Given the description of an element on the screen output the (x, y) to click on. 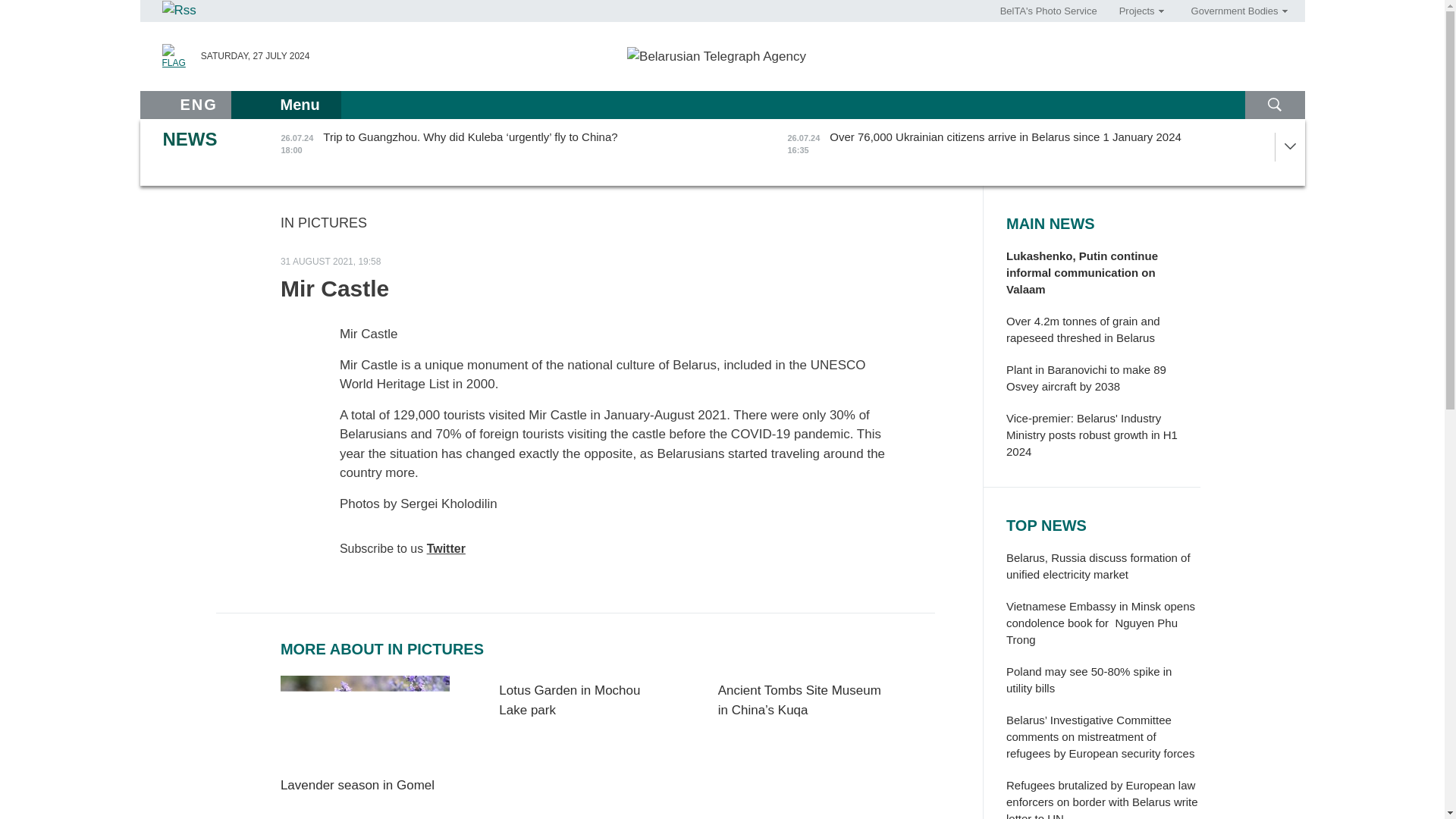
Rss (178, 9)
Rss (178, 10)
Projects (1136, 11)
Government Bodies (1233, 11)
BelTA's Photo Service (1048, 11)
Government Bodies (1233, 11)
Projects (1136, 11)
BelTA's Photo Service (1048, 11)
